Given the description of an element on the screen output the (x, y) to click on. 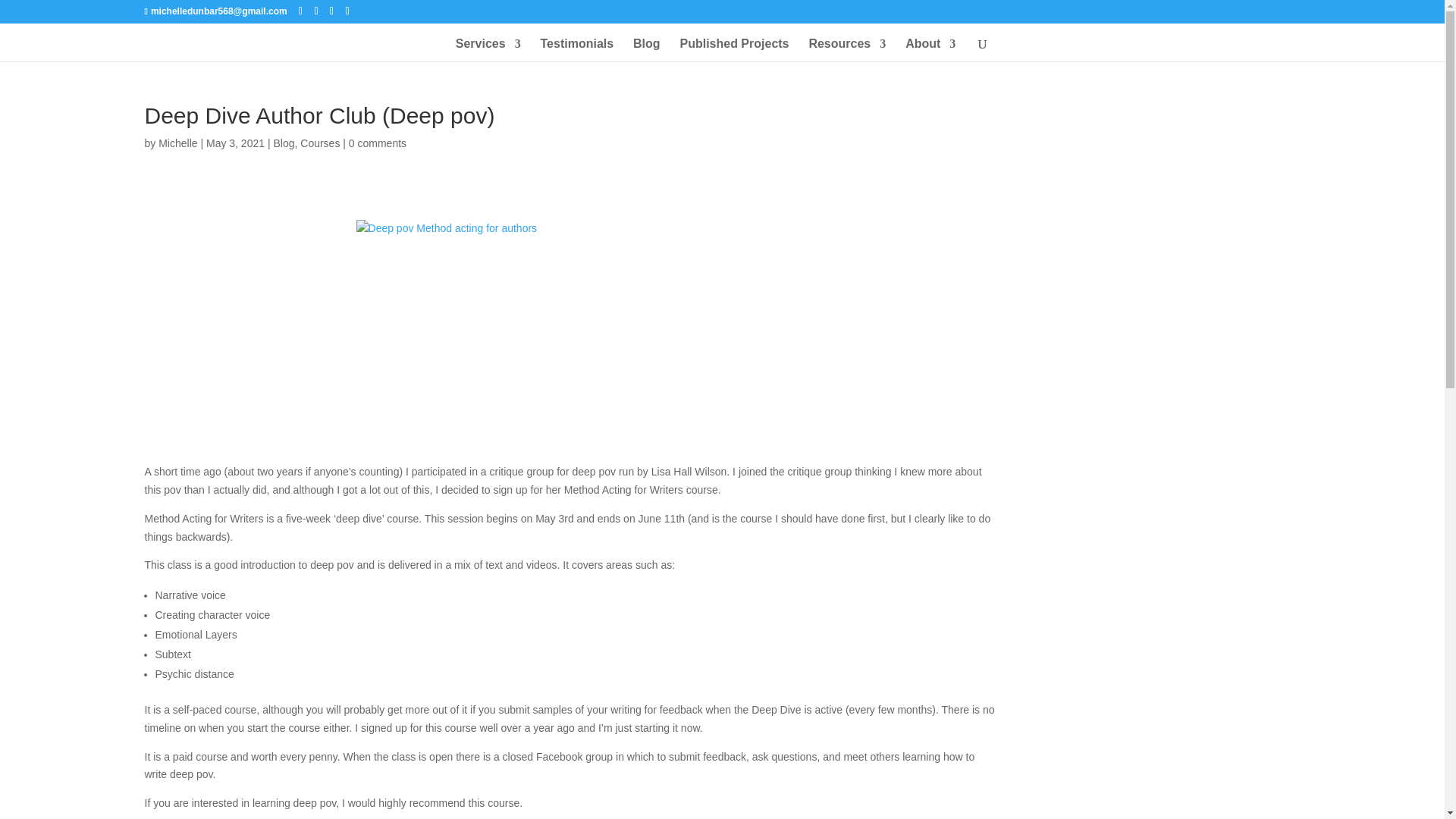
Posts by Michelle (177, 143)
Blog (647, 49)
Services (488, 49)
About (930, 49)
Testimonials (577, 49)
Resources (846, 49)
Published Projects (734, 49)
